Given the description of an element on the screen output the (x, y) to click on. 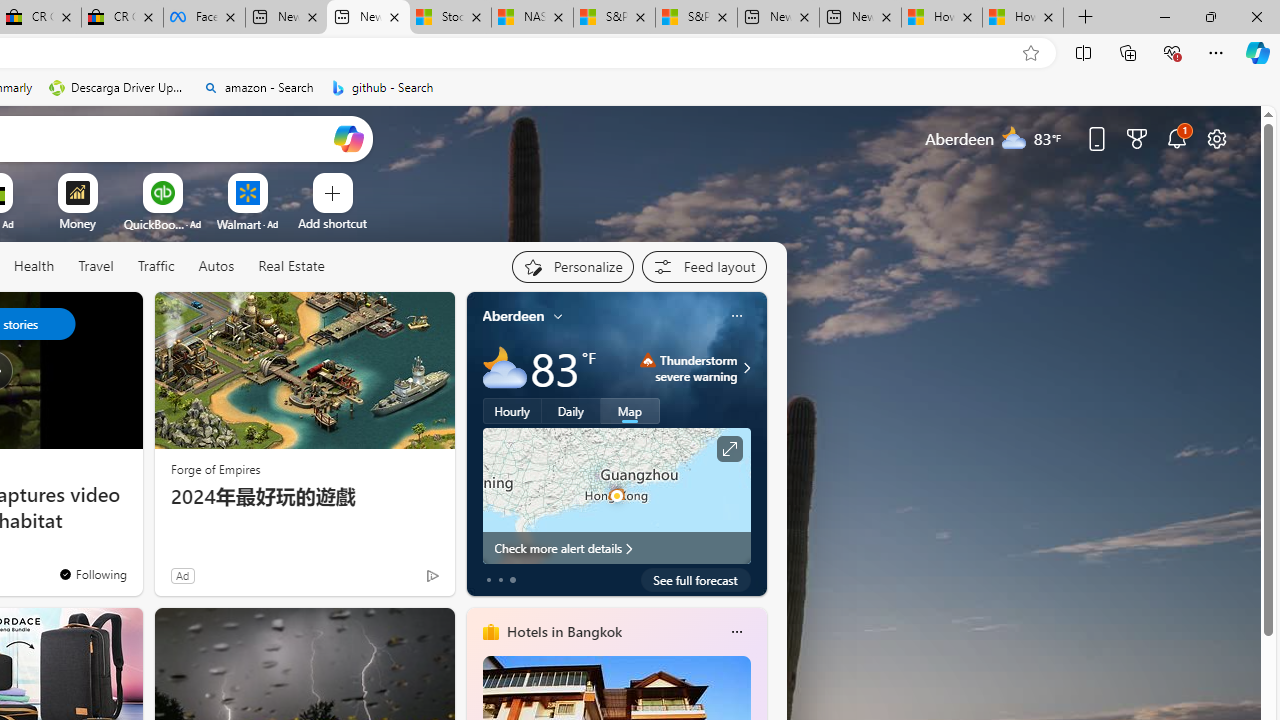
tab-0 (488, 579)
hotels-header-icon (490, 632)
Traffic (155, 267)
Travel (95, 267)
S&P 500, Nasdaq end lower, weighed by Nvidia dip | Watch (696, 17)
Daily (571, 411)
Aberdeen (513, 315)
Health (34, 265)
Click to see more information (728, 449)
